Given the description of an element on the screen output the (x, y) to click on. 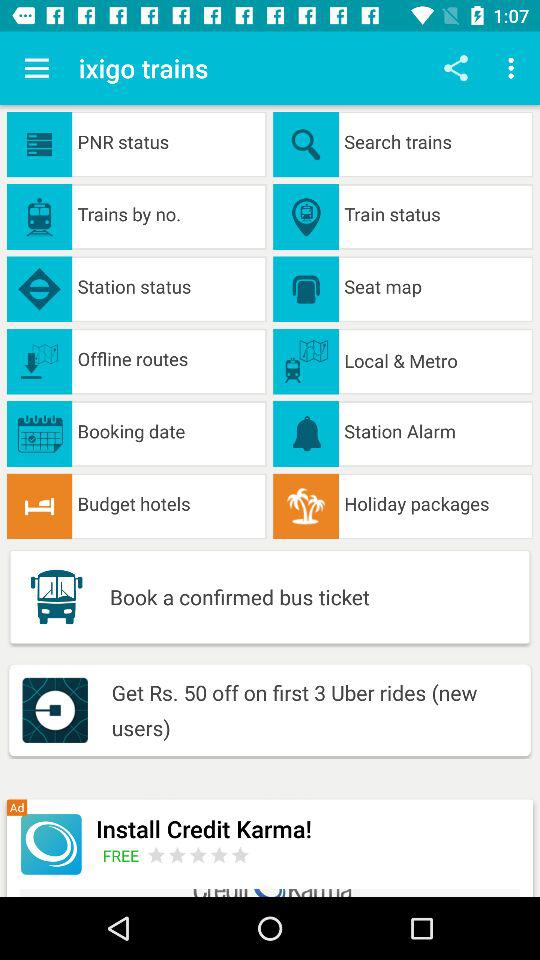
goes to advertiser 's website (197, 854)
